Given the description of an element on the screen output the (x, y) to click on. 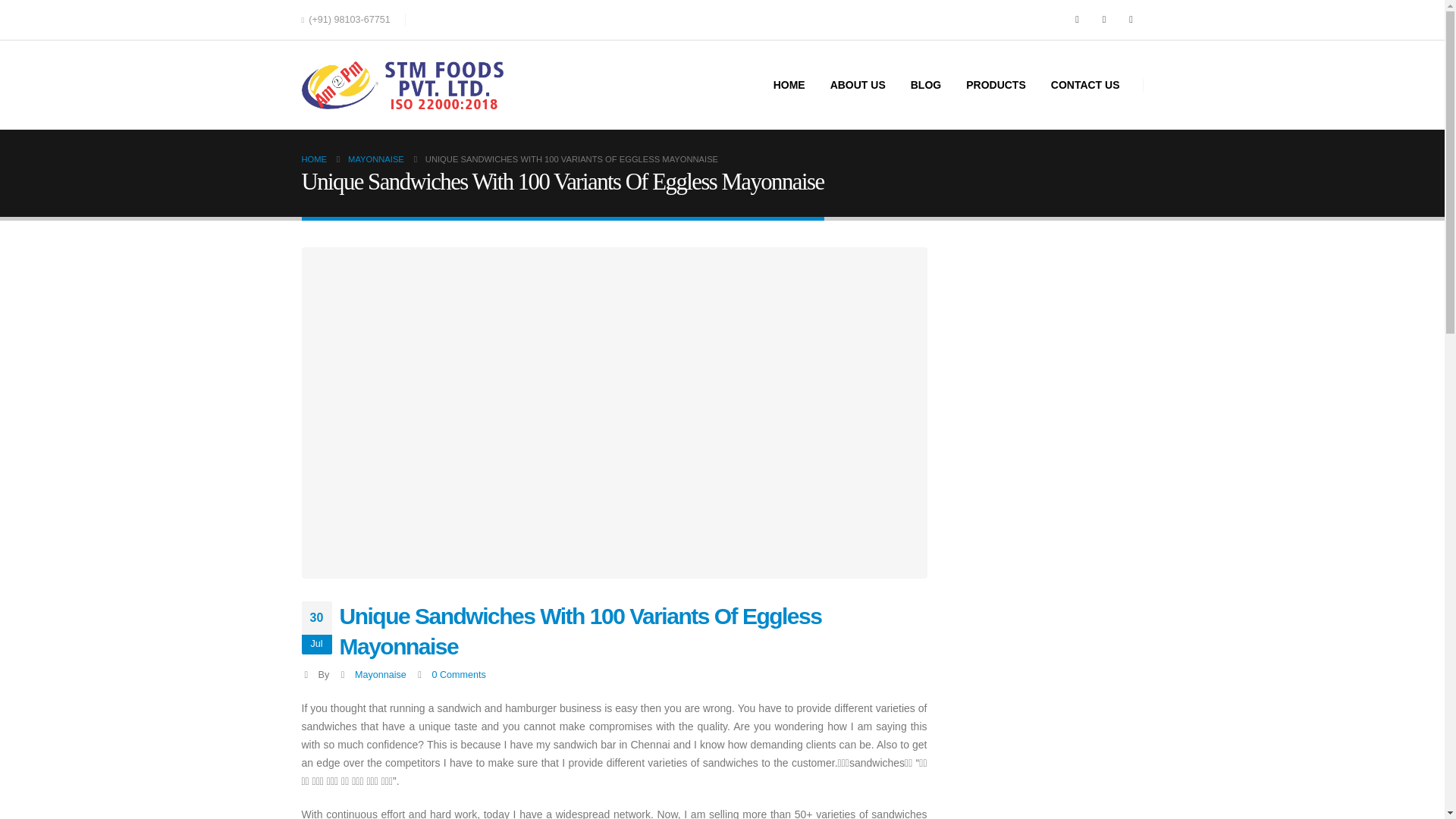
BLOG (925, 84)
0 Comments (457, 674)
Facebook (1076, 19)
HOME (788, 84)
HOME (314, 158)
0 Comments (457, 674)
Go to Home Page (314, 158)
PRODUCTS (995, 84)
Twitter (1104, 19)
CONTACT US (1085, 84)
